Given the description of an element on the screen output the (x, y) to click on. 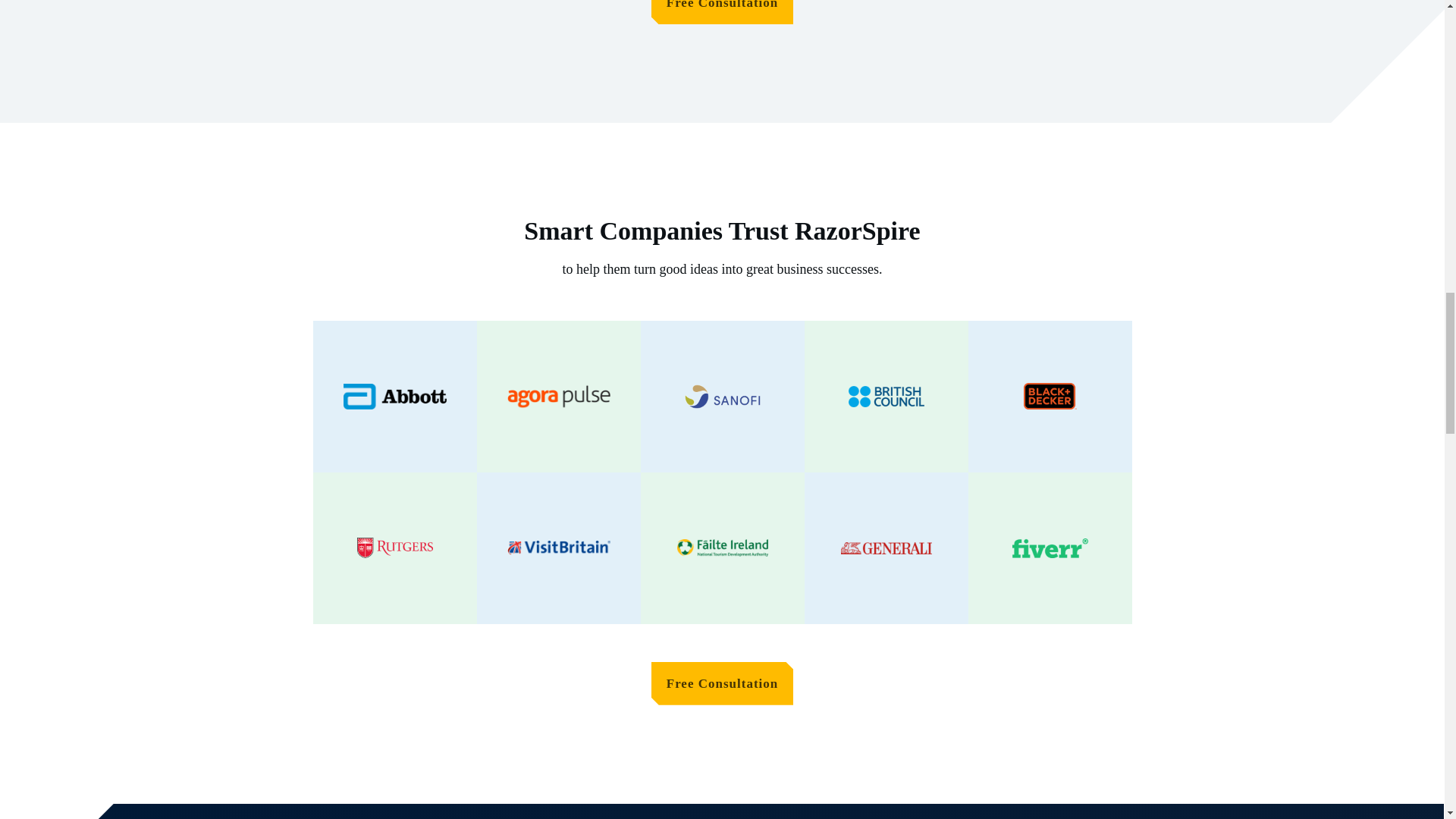
logo-agora- (558, 396)
logo-blackdecker- (1050, 396)
logo-failteireland- (722, 547)
logo-britishcouncil- (885, 396)
logo-abbott- (393, 396)
logo-rutgers- (394, 547)
Free Consultation (721, 683)
logo-fiverr- (1049, 547)
logo-visitbritain- (558, 547)
logo-generali- (885, 548)
Free Consultation (721, 12)
